Given the description of an element on the screen output the (x, y) to click on. 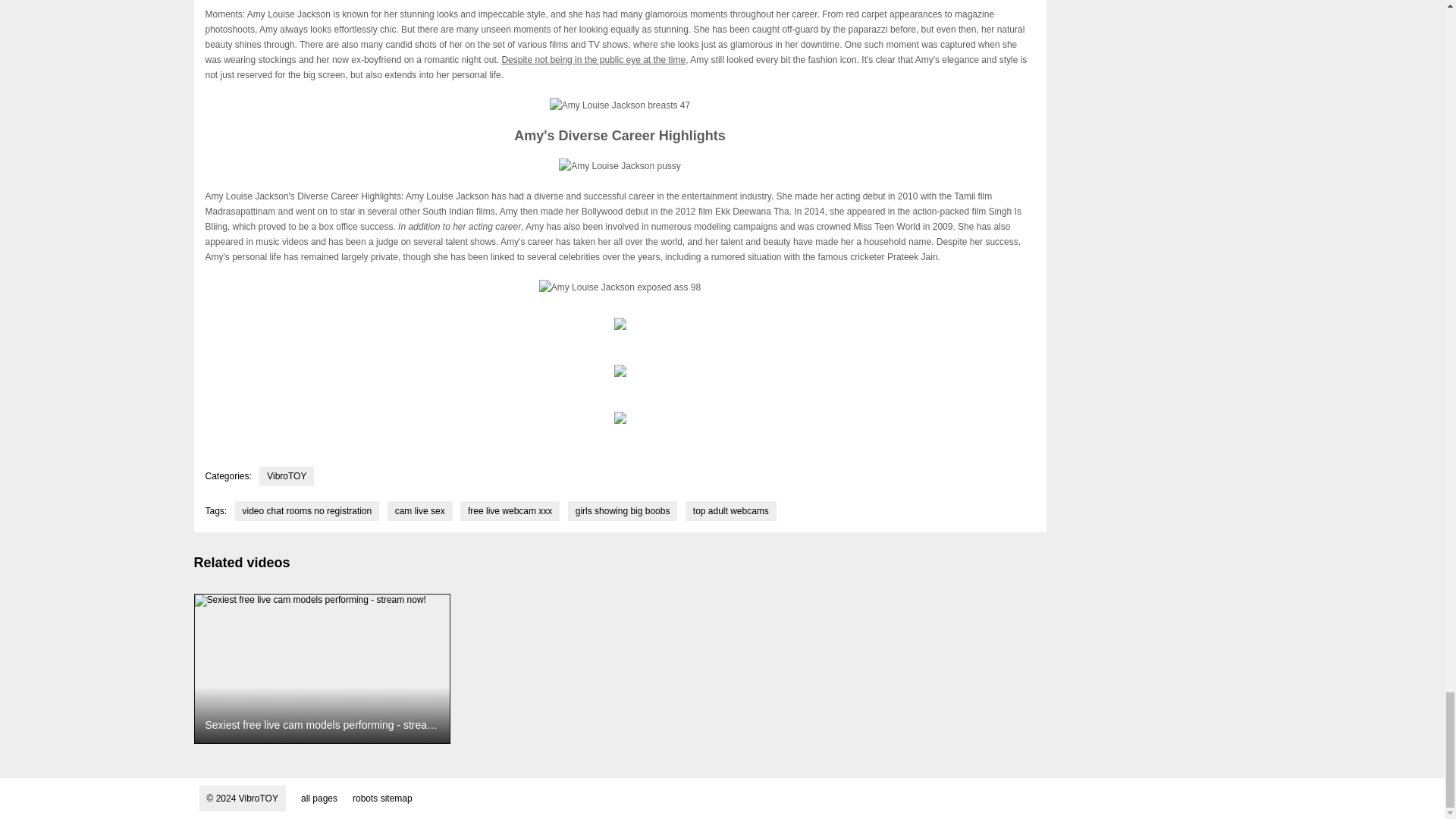
Amy Louise Jackson pussy (620, 165)
Amy Louise Jackson exposed ass 98 (619, 287)
Amy Louise Jackson breasts 47 (620, 105)
